Given the description of an element on the screen output the (x, y) to click on. 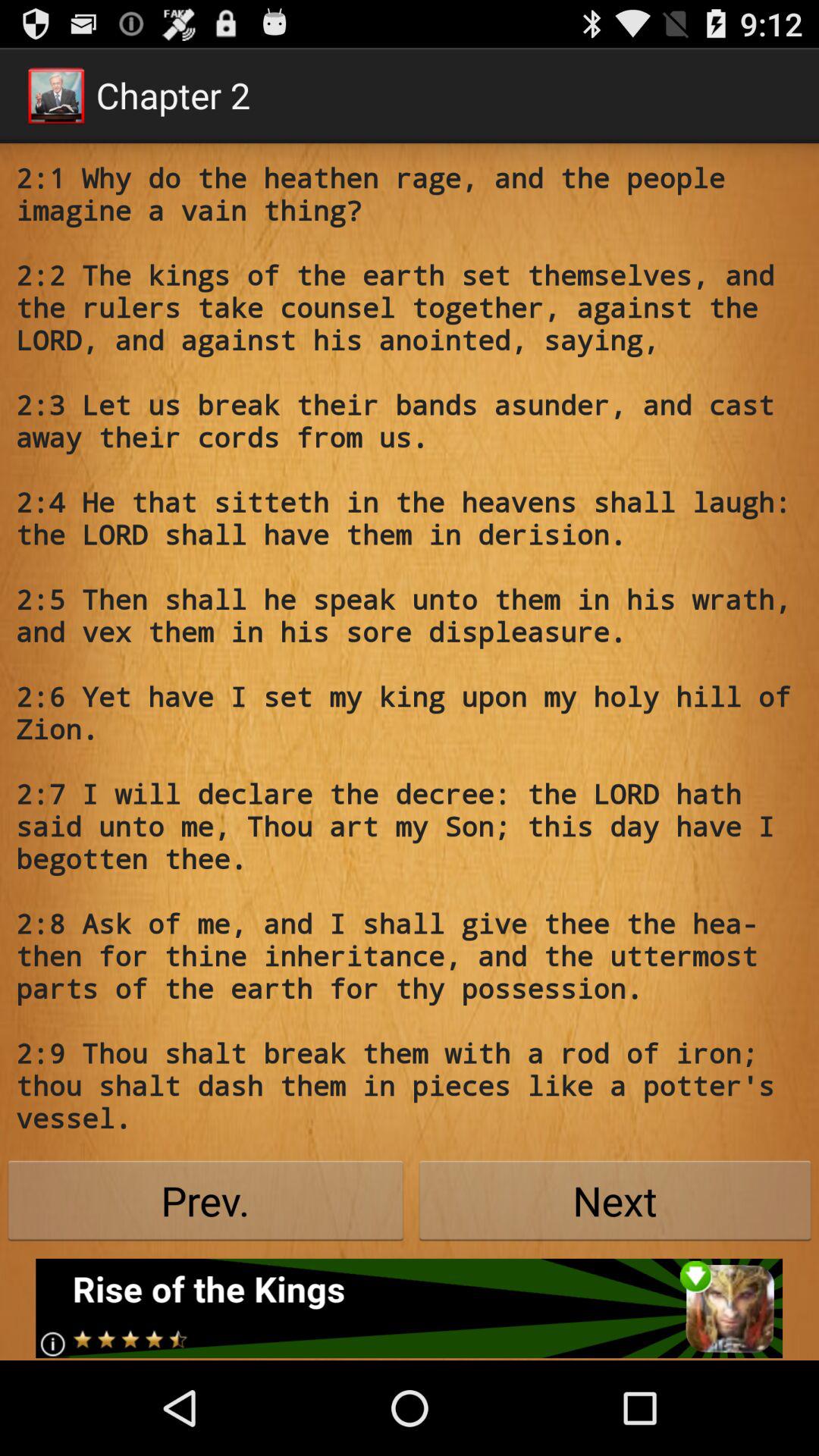
advertismet (408, 1308)
